Given the description of an element on the screen output the (x, y) to click on. 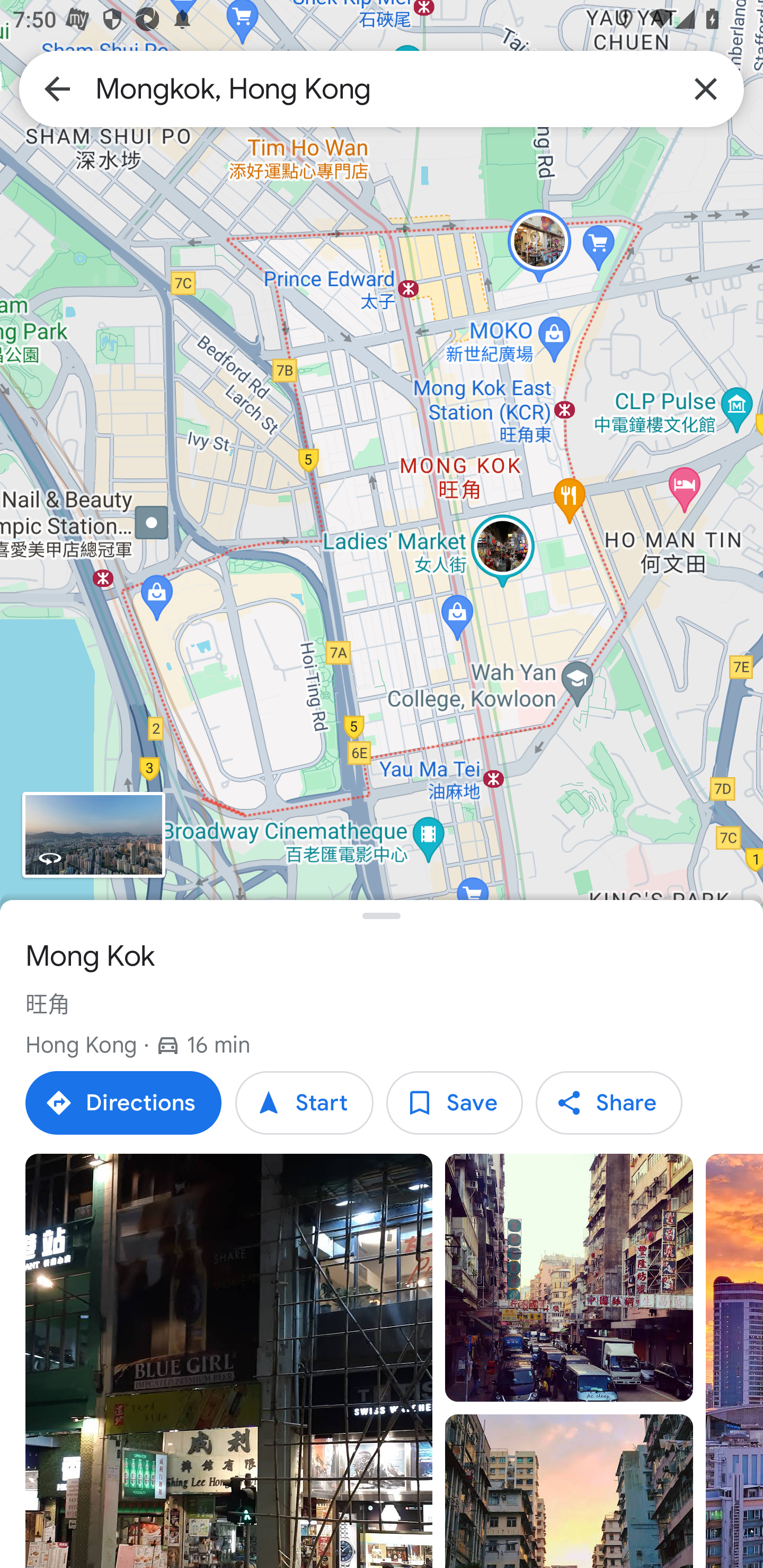
Back (57, 88)
Mongkok, Hong Kong (381, 88)
Clear (705, 88)
View Street view imagery for Mong Kok (93, 834)
Start Start Start (304, 1102)
Save Mong Kok to lists Save Save Mong Kok to lists (454, 1102)
Share Mong Kok Share Share Mong Kok (608, 1102)
Photo (228, 1361)
Photo (568, 1277)
Photo (568, 1491)
